Given the description of an element on the screen output the (x, y) to click on. 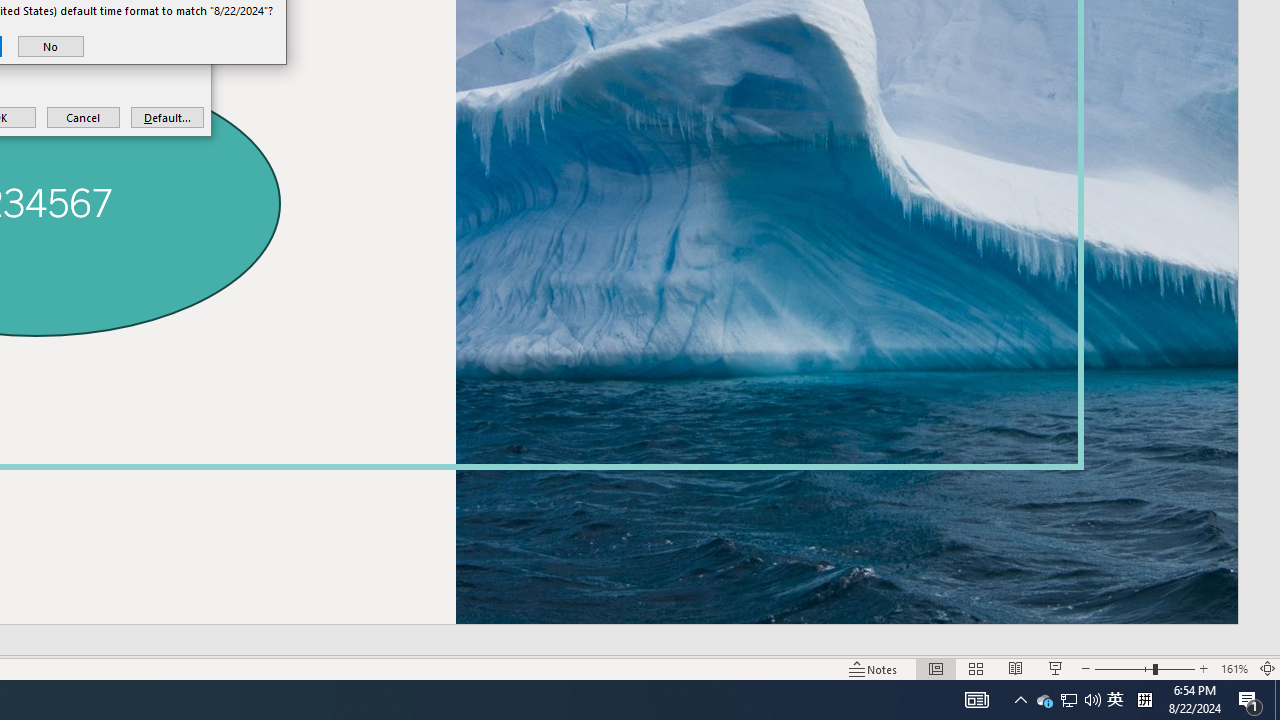
Zoom In (1204, 668)
Slide Sorter (975, 668)
Zoom Out (1123, 668)
Zoom to Fit  (1267, 668)
Show desktop (1044, 699)
Reading View (1277, 699)
Action Center, 1 new notification (1069, 699)
